Given the description of an element on the screen output the (x, y) to click on. 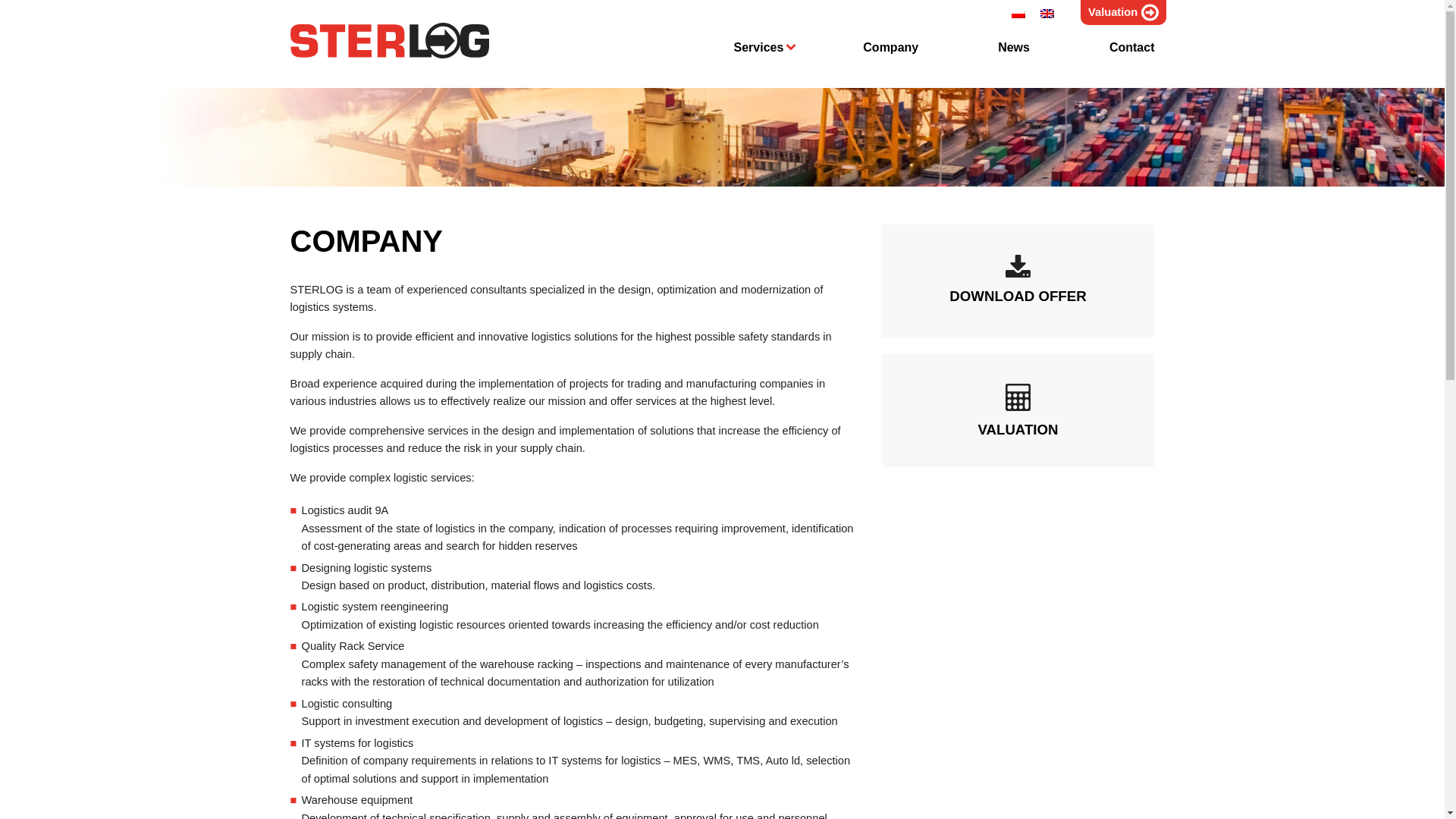
Sterlog (389, 40)
DOWNLOAD OFFER (1017, 281)
Company (890, 47)
VALUATION (1017, 409)
Valuation (1123, 12)
Services (758, 47)
Contact (1131, 47)
STERLOG (389, 40)
News (1013, 47)
